Given the description of an element on the screen output the (x, y) to click on. 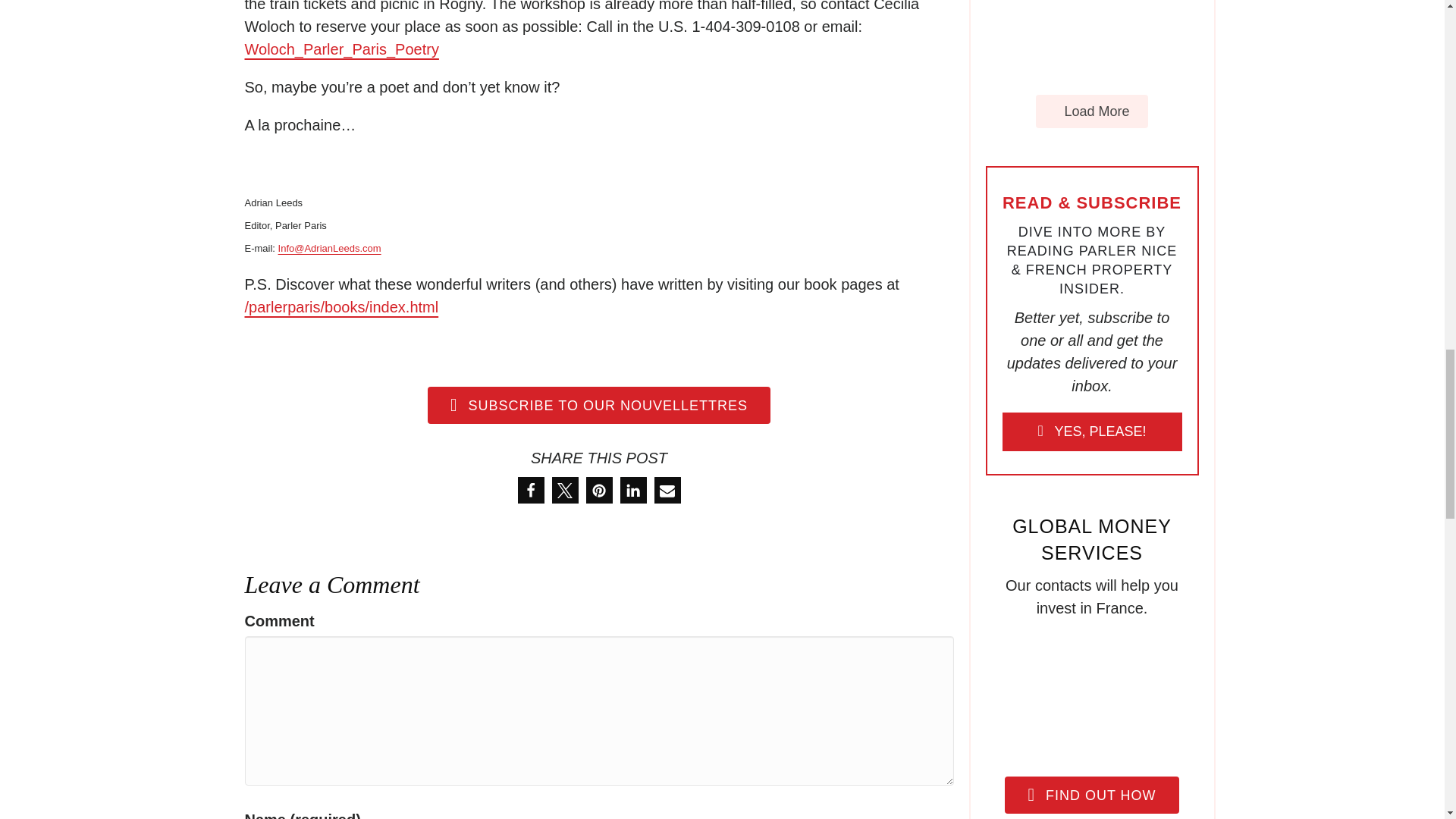
Share on X (564, 489)
Share on LinkedIn (633, 489)
Send by email (666, 489)
Share on Facebook (529, 489)
Pin it on Pinterest (598, 489)
